Given the description of an element on the screen output the (x, y) to click on. 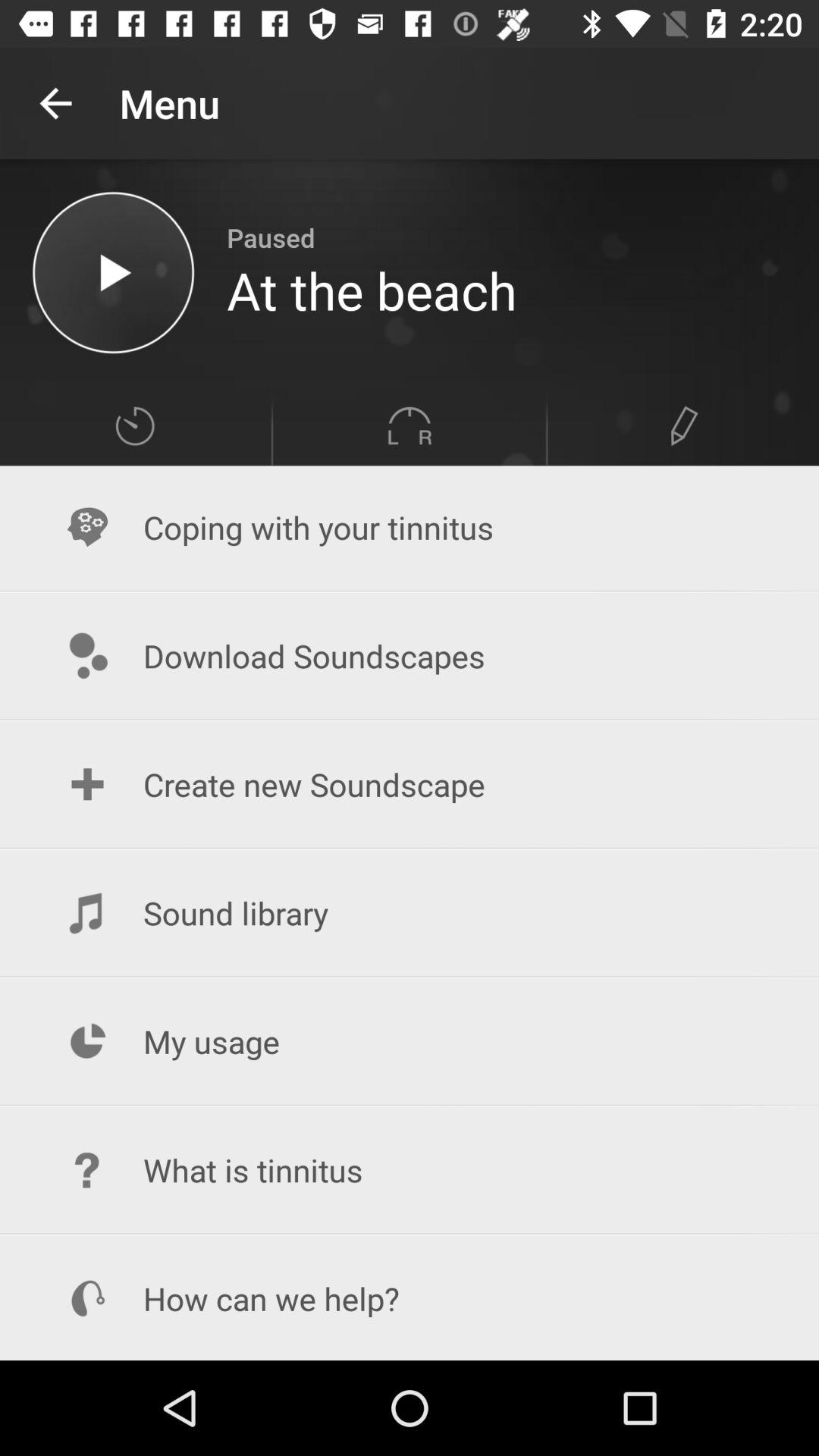
click icon above the coping with your (409, 425)
